Given the description of an element on the screen output the (x, y) to click on. 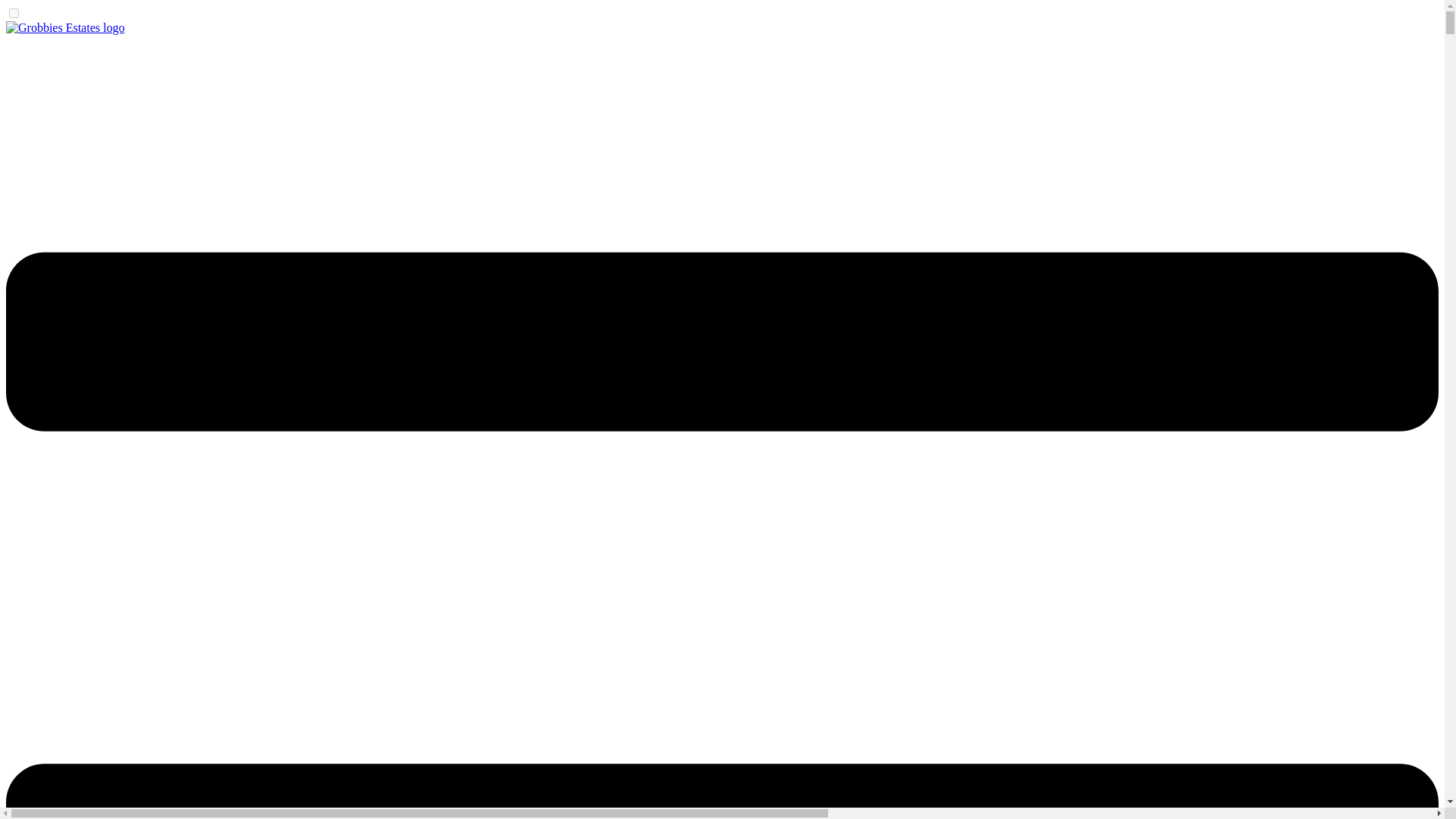
Property for sale to rent Walvis Bay Namibia (64, 27)
on (13, 13)
